Given the description of an element on the screen output the (x, y) to click on. 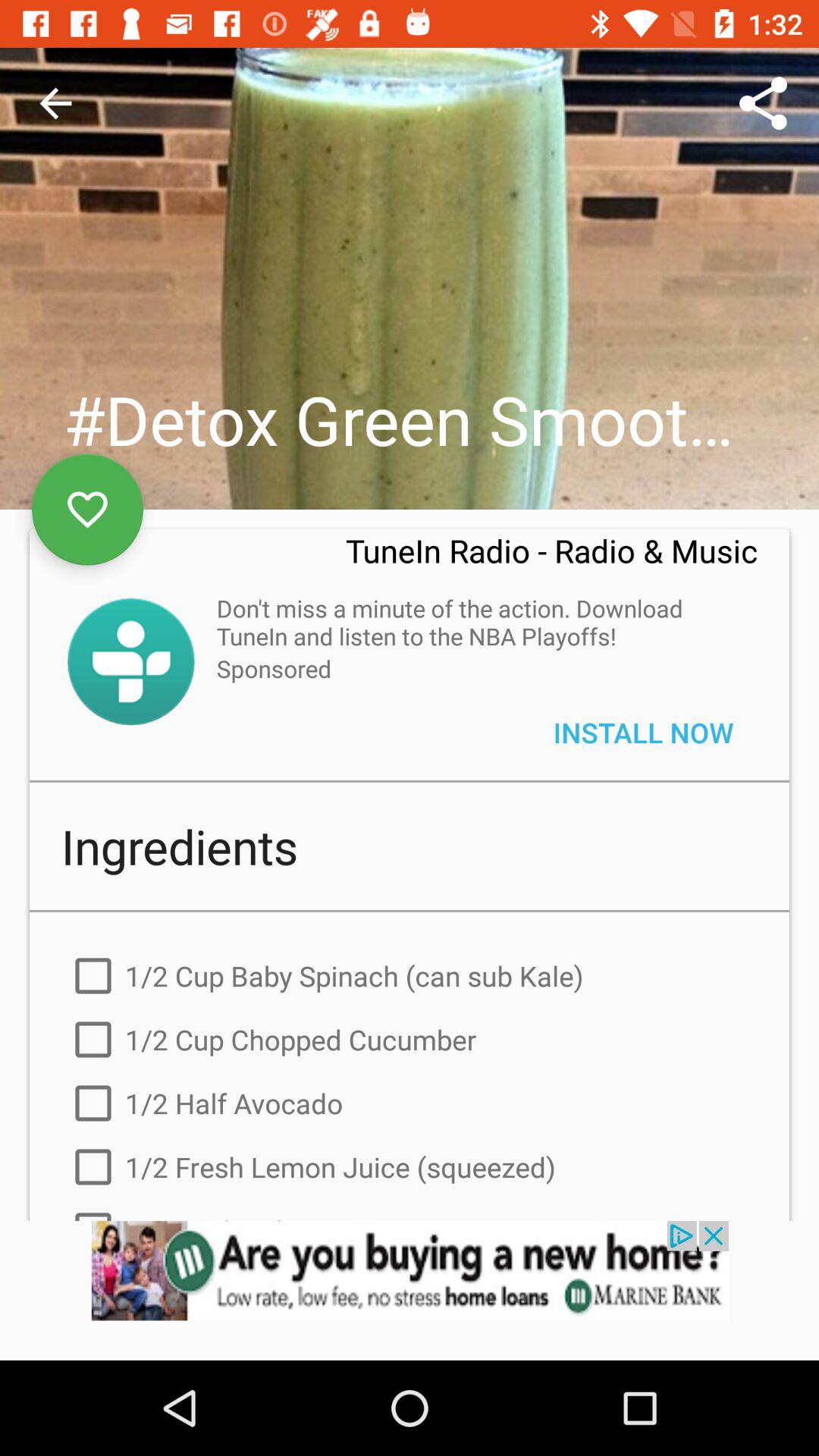
select the button (130, 661)
